Given the description of an element on the screen output the (x, y) to click on. 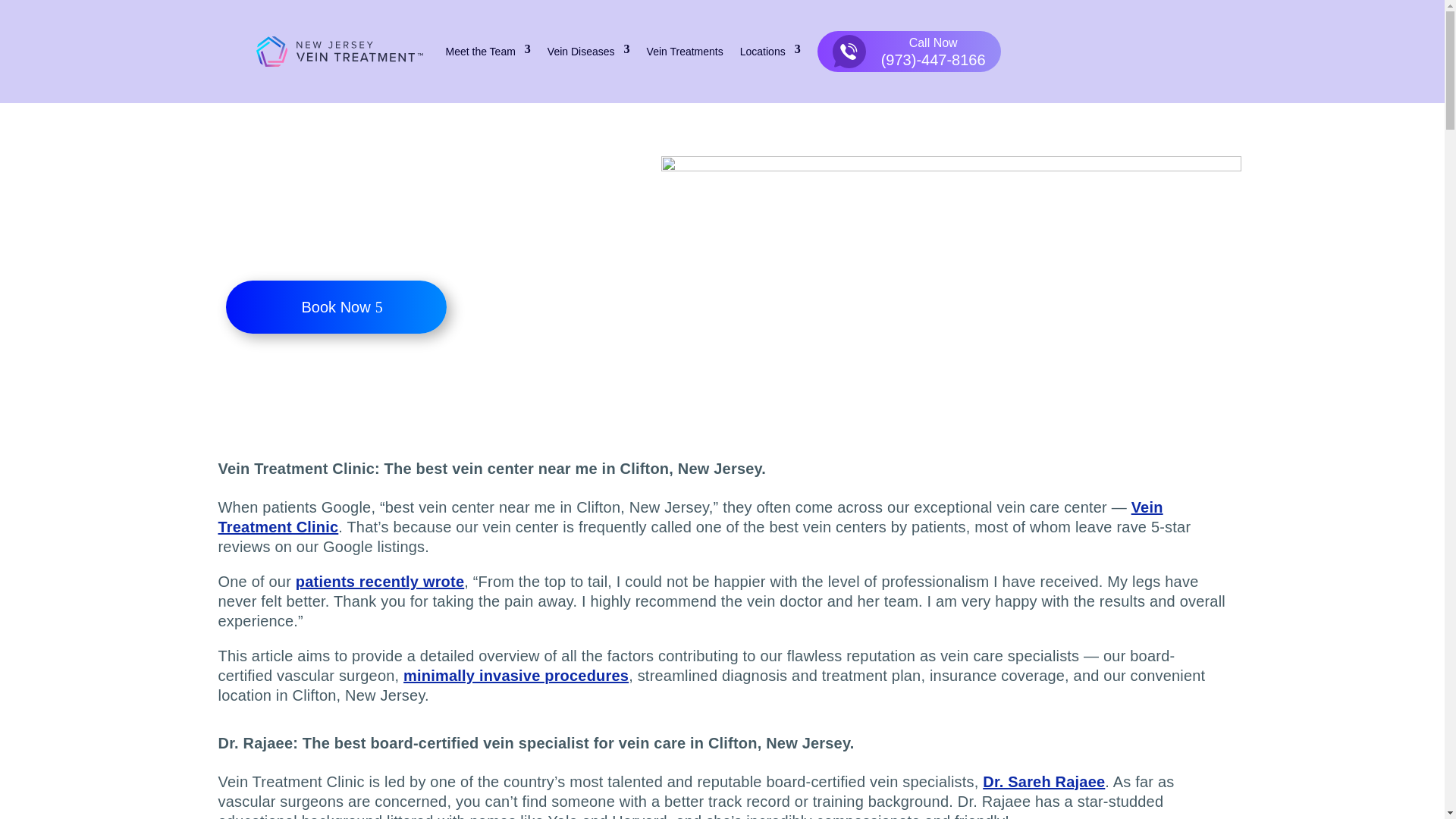
Before-After-SpiderVeins-Patient1 (951, 261)
Meet the Team (488, 51)
Vein Diseases (588, 51)
Locations (769, 51)
Vein Treatments (684, 51)
